Given the description of an element on the screen output the (x, y) to click on. 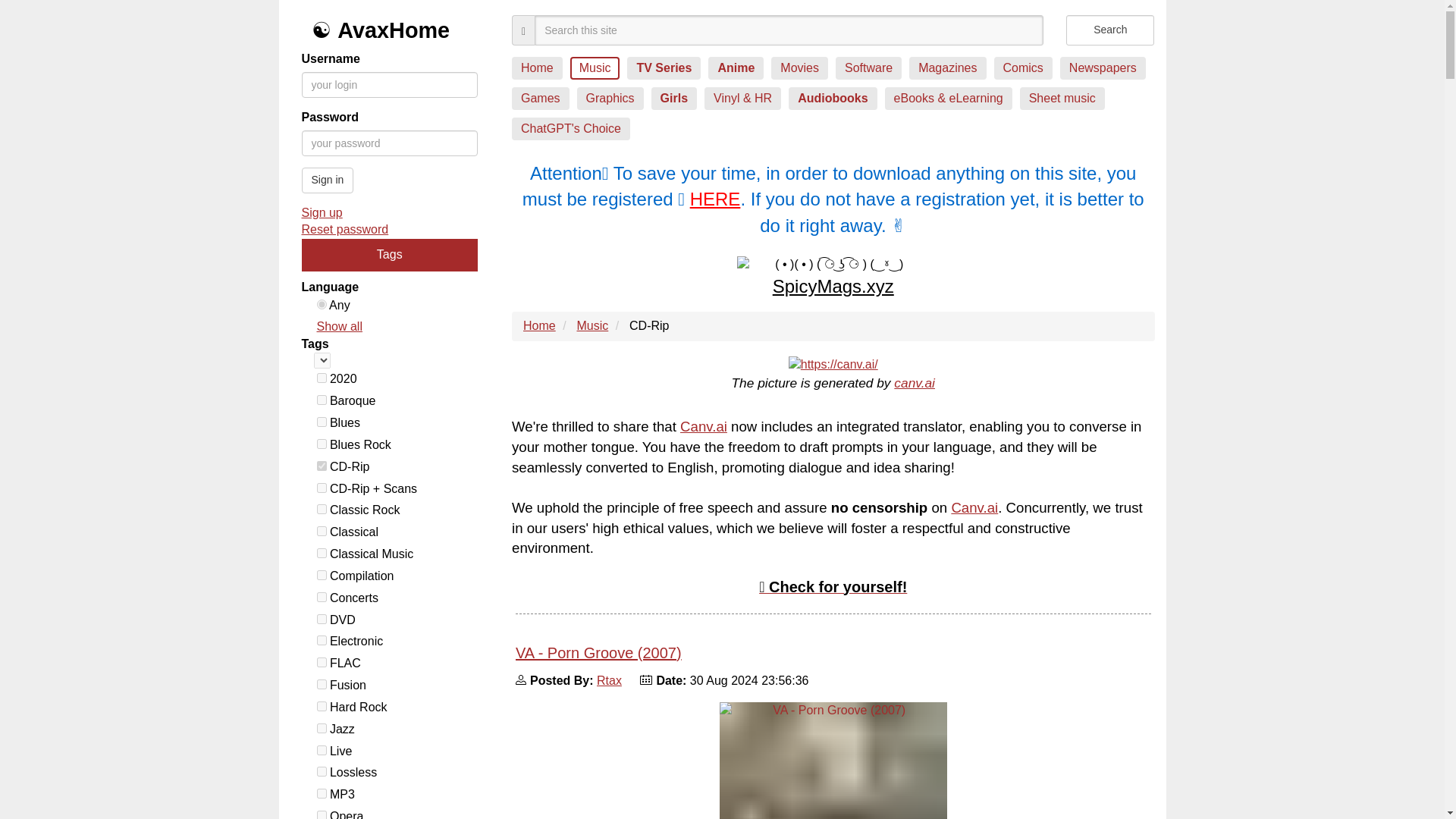
Classical Music (321, 552)
Classical (321, 531)
Sign up (390, 212)
Blues (321, 421)
Hard Rock (321, 706)
Baroque (321, 399)
Compilation (321, 574)
2020 (321, 378)
Classic Rock (321, 509)
FLAC (321, 662)
